Given the description of an element on the screen output the (x, y) to click on. 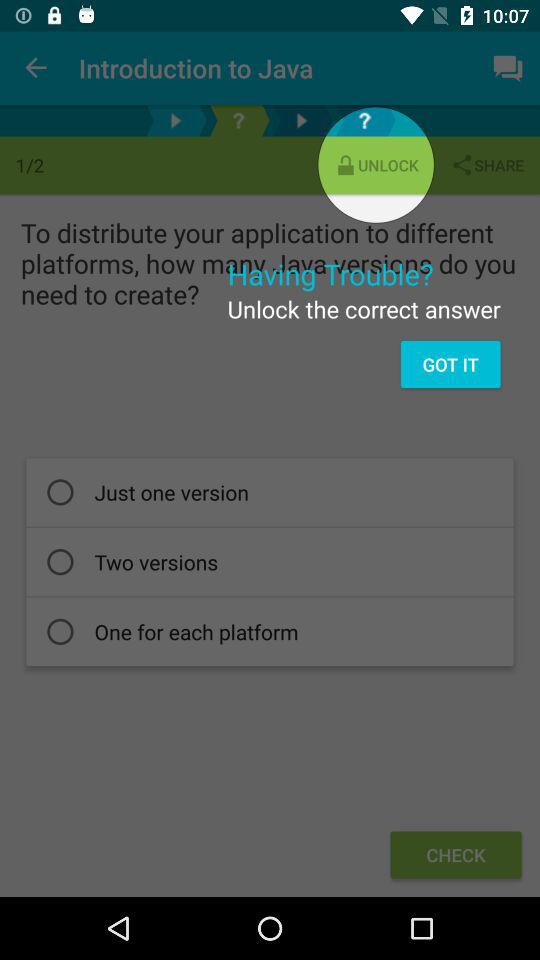
click the button which is on left to the 1st  button from left side of the web page (175, 120)
click the last button in the page (455, 855)
click the button on left to the 2nd  button on the web page (301, 120)
